Given the description of an element on the screen output the (x, y) to click on. 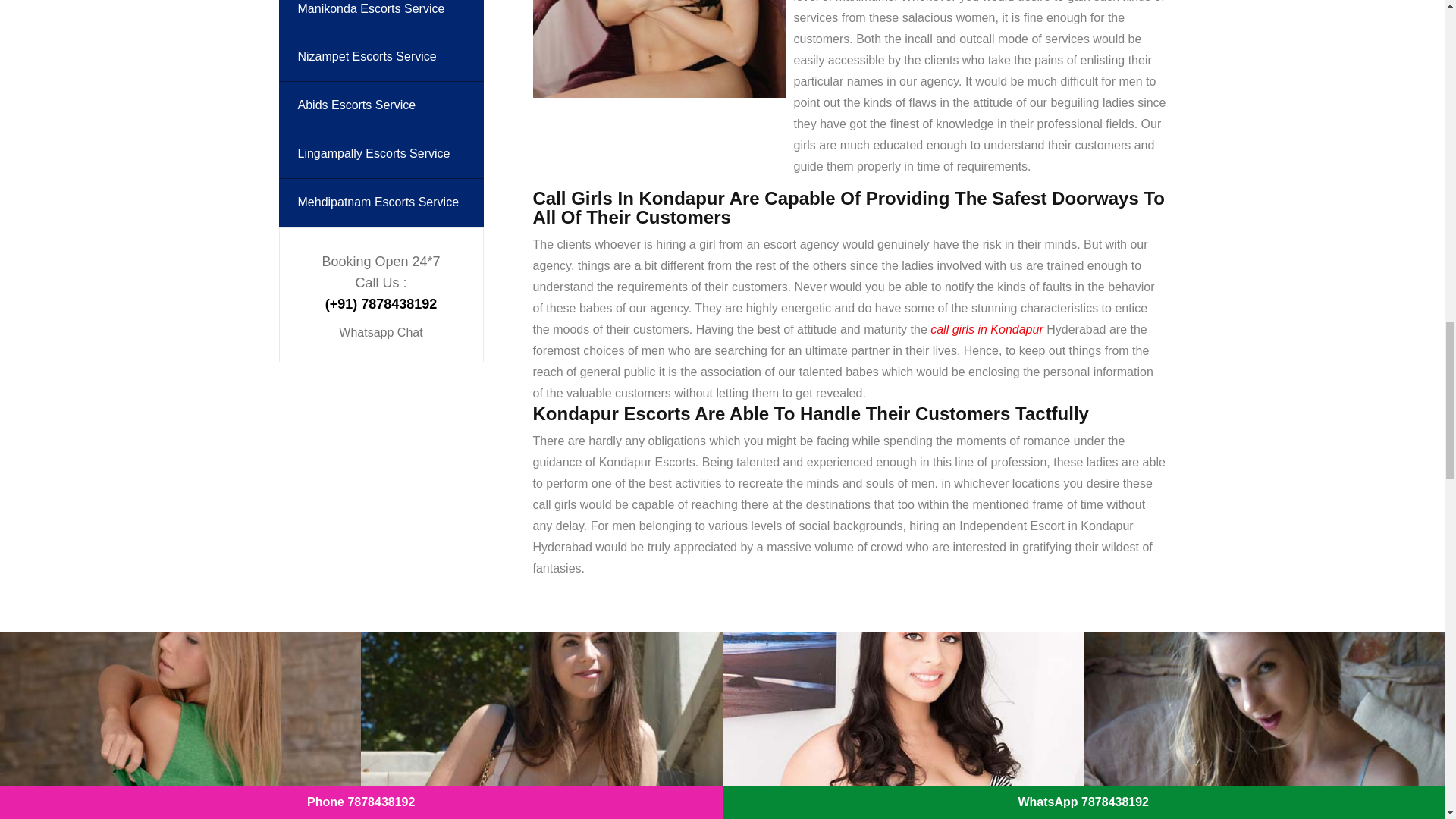
Nizampet Escorts Service (381, 57)
Mehdipatnam Escorts Service (381, 202)
Abids Escorts Service (381, 105)
call girls in Kondapur (986, 329)
Lingampally Escorts Service (381, 154)
Whatsapp Chat (380, 332)
Manikonda Escorts Service (381, 16)
